Given the description of an element on the screen output the (x, y) to click on. 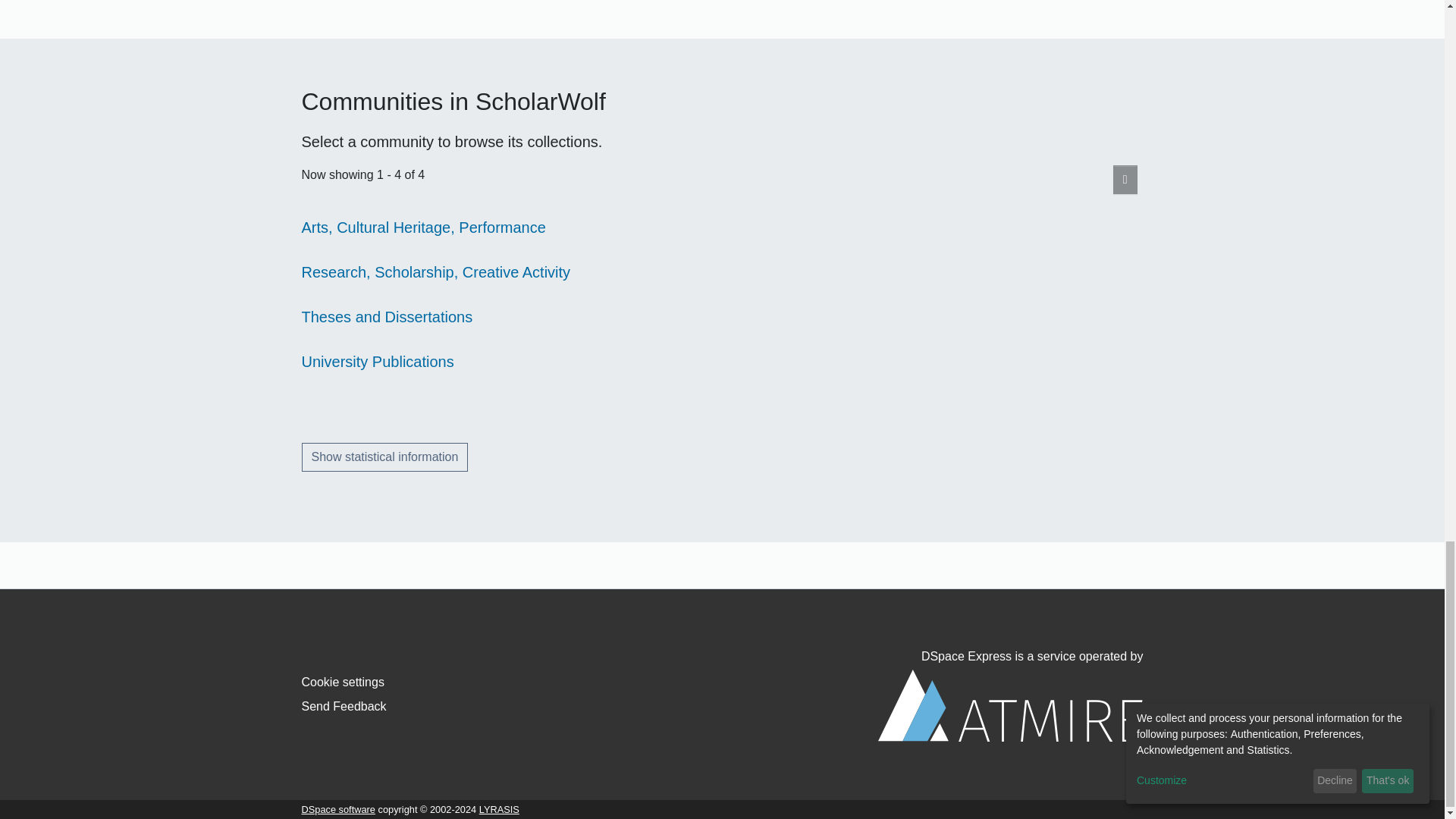
Cookie settings (342, 681)
Theses and Dissertations (387, 316)
Send Feedback (344, 706)
University Publications (377, 361)
Arts, Cultural Heritage, Performance (423, 227)
Research, Scholarship, Creative Activity (435, 271)
Show statistical information (384, 457)
